Given the description of an element on the screen output the (x, y) to click on. 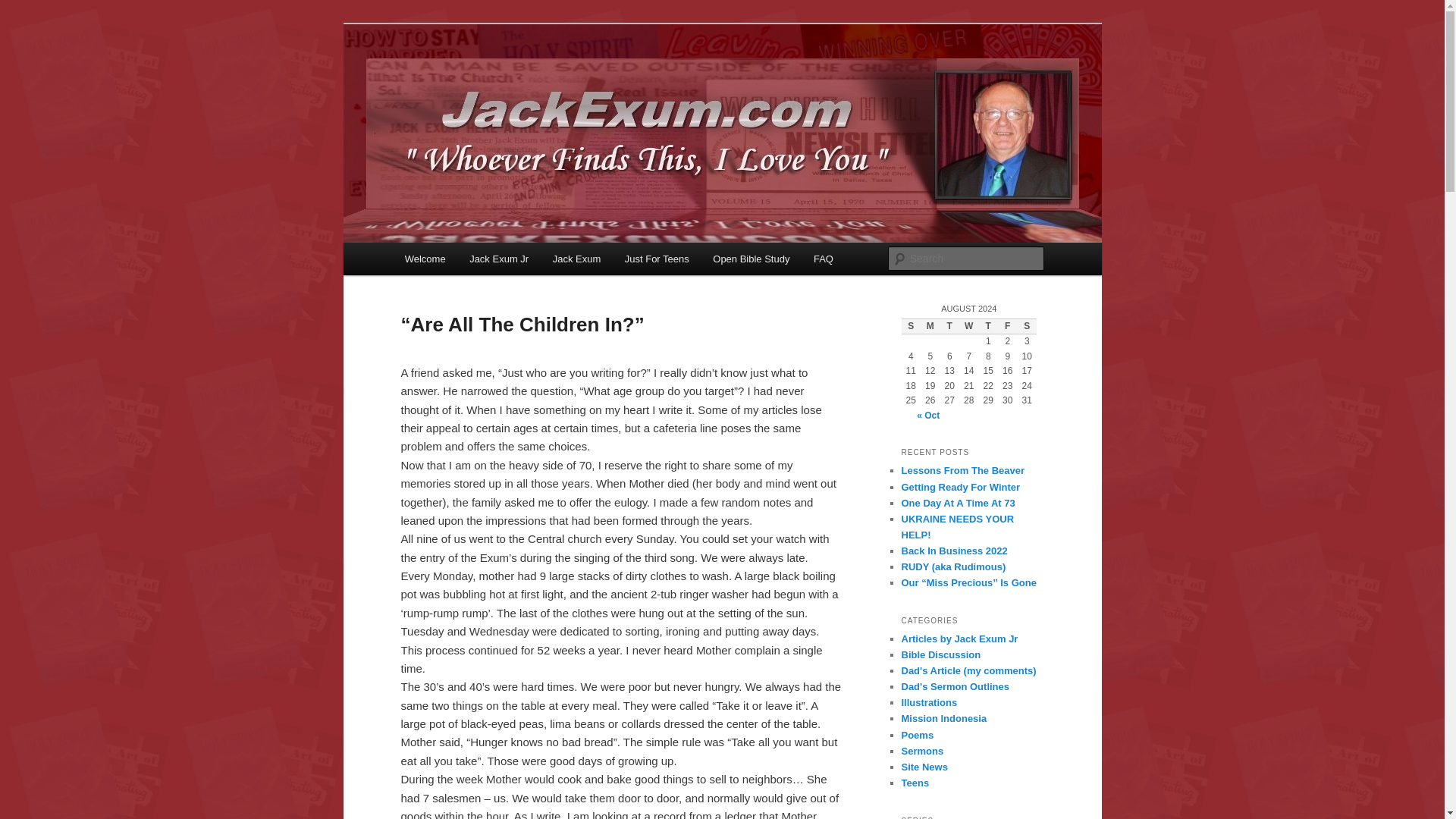
Wednesday (968, 326)
Back In Business 2022 (954, 550)
UKRAINE NEEDS YOUR HELP! (957, 526)
Jack Exum (576, 258)
FAQ (823, 258)
JackExum.com (483, 78)
Articles by Jack Exum Jr (959, 638)
Jack Exum Jr (498, 258)
Sunday (910, 326)
